Given the description of an element on the screen output the (x, y) to click on. 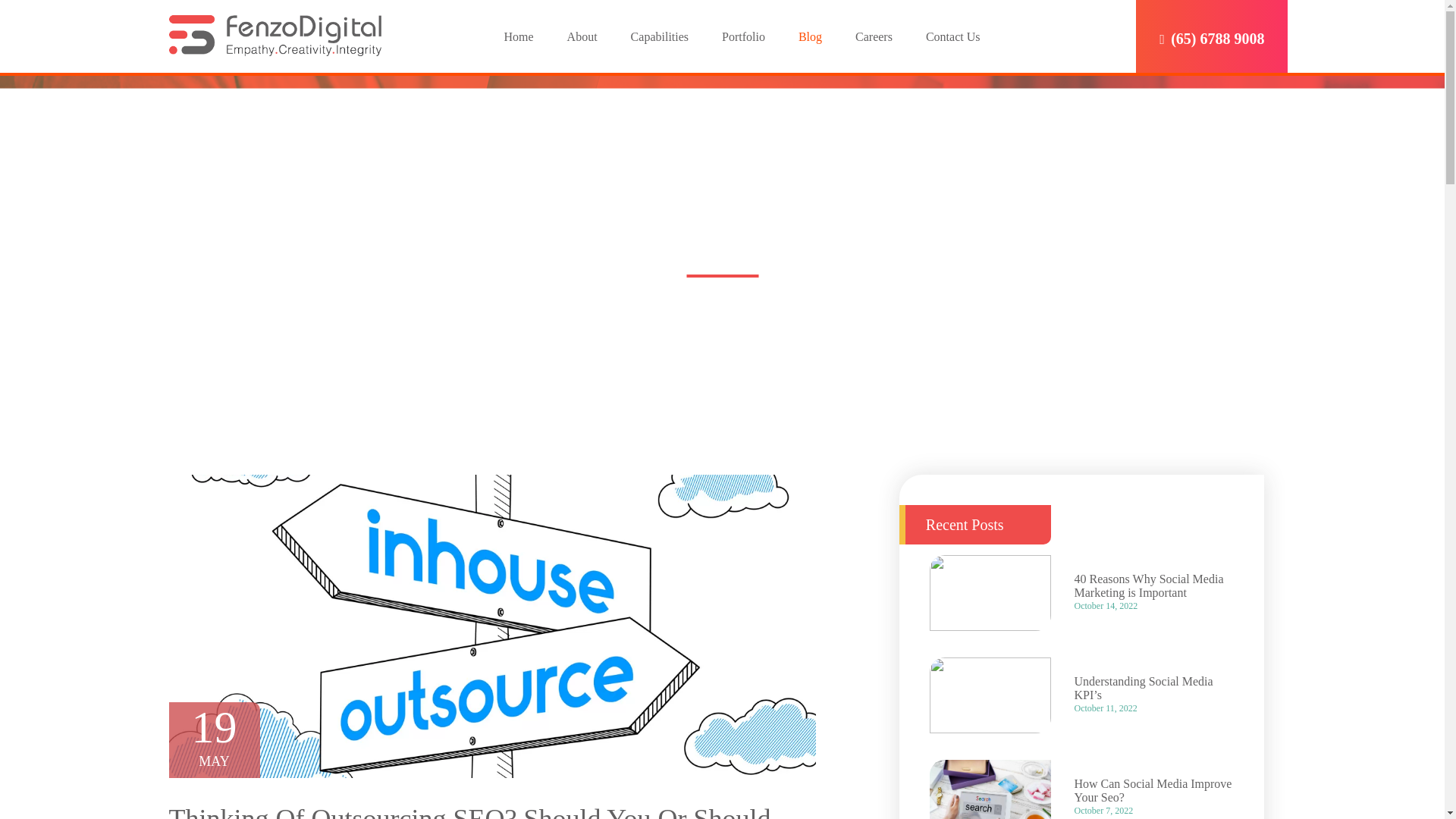
Capabilities (659, 36)
Blog (809, 36)
Careers (874, 36)
Home (517, 36)
Contact Us (952, 36)
Portfolio (743, 36)
About (581, 36)
